Given the description of an element on the screen output the (x, y) to click on. 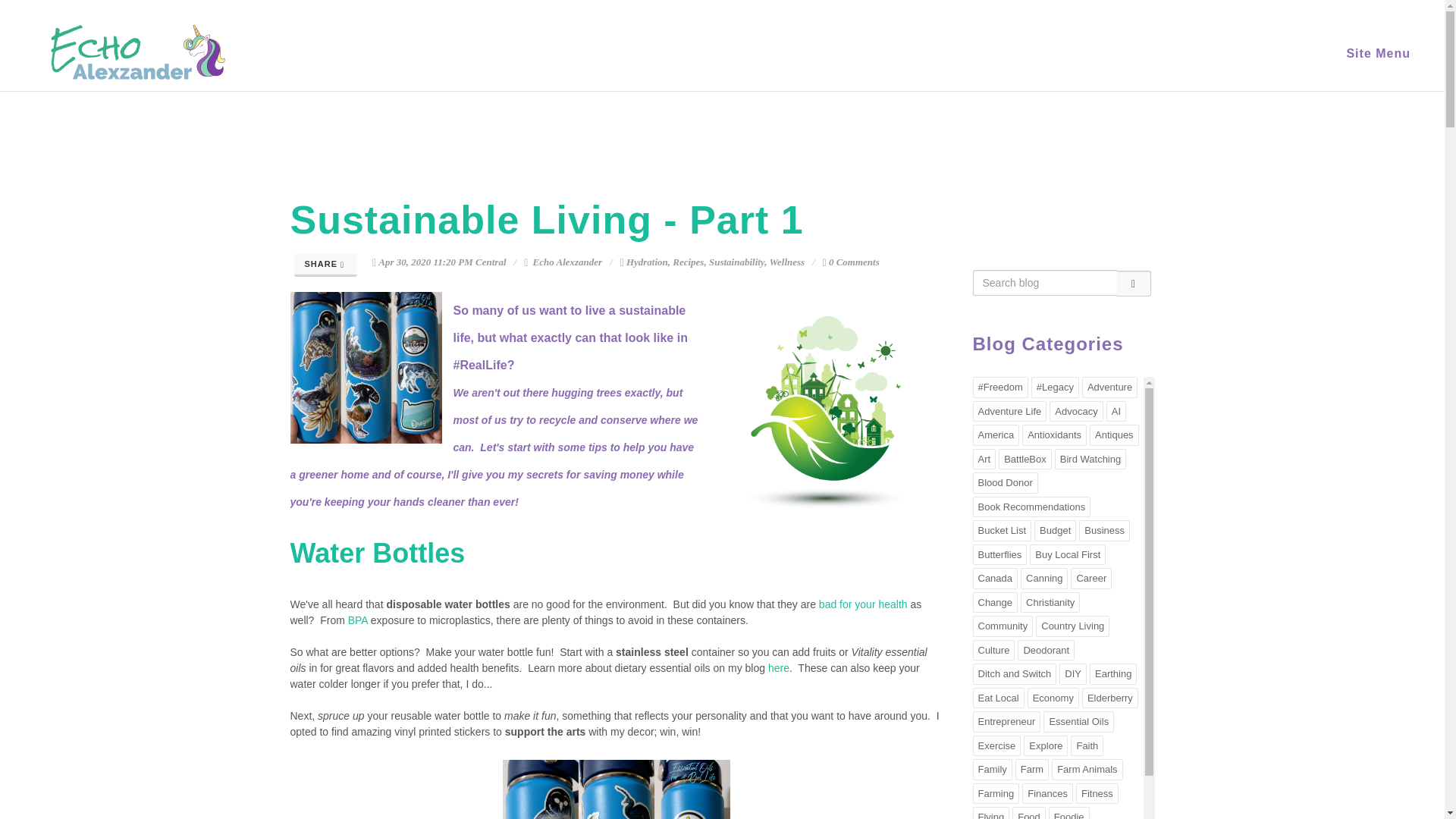
Site Menu (1378, 53)
Hydration (647, 261)
bad for your health (862, 604)
SHARE (326, 264)
Recipes (687, 261)
Wellness (786, 261)
here (778, 667)
0 Comments (850, 261)
BPA (357, 620)
Sustainable Living - Part 1 (546, 219)
Sustainability (736, 261)
